Given the description of an element on the screen output the (x, y) to click on. 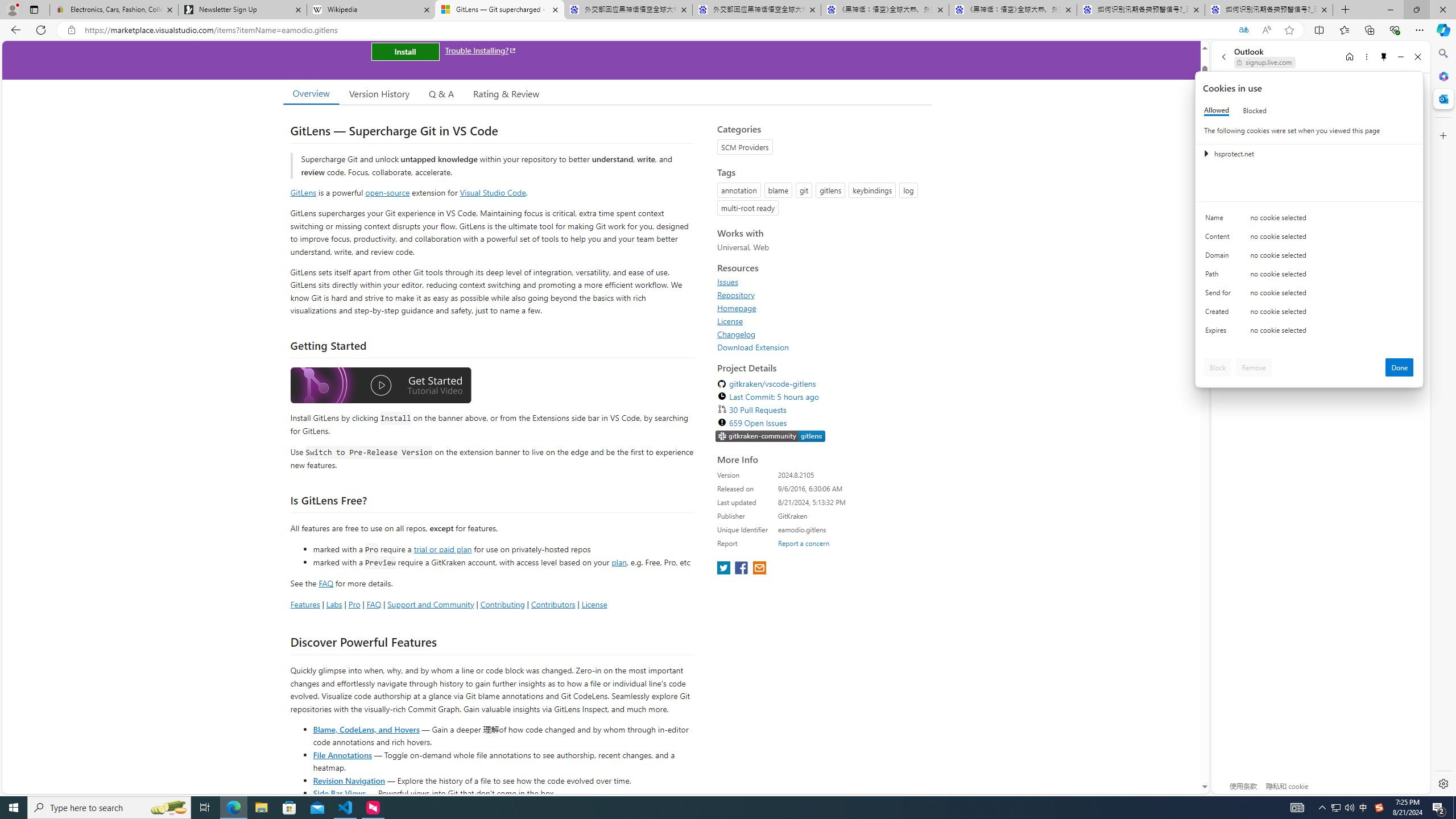
Blocked (1255, 110)
